Given the description of an element on the screen output the (x, y) to click on. 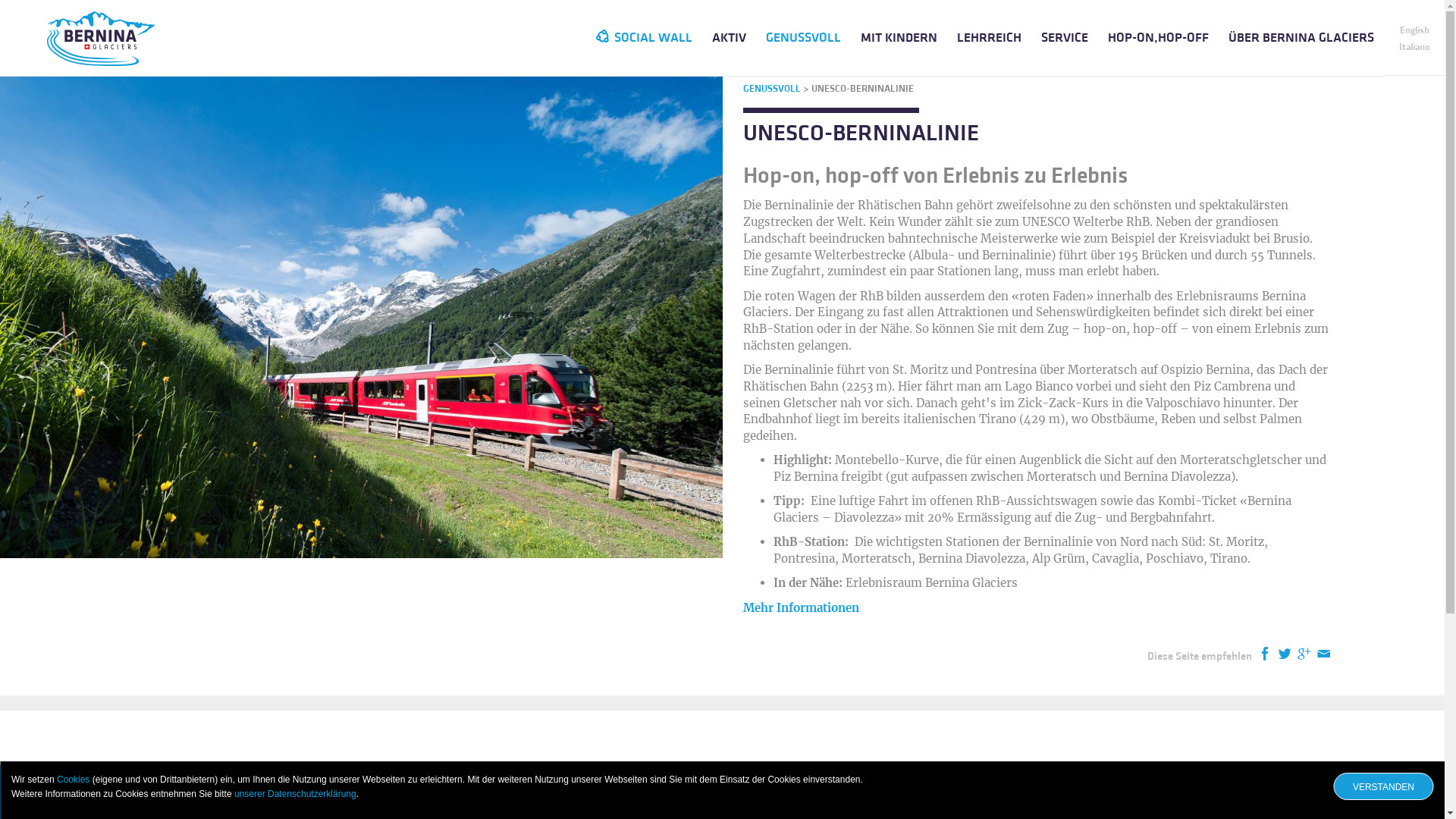
WETTER Element type: text (370, 791)
Italiano Element type: text (1413, 46)
GENUSSVOLL Element type: text (803, 37)
VERSTANDEN Element type: text (1383, 786)
GENUSSVOLL Element type: text (771, 88)
Bernina Glaciers Element type: hover (100, 32)
AKTIV Element type: text (729, 37)
SERVICE Element type: text (1064, 37)
HOP-ON,HOP-OFF Element type: text (1158, 37)
Mehr Informationen Element type: text (801, 607)
LEHRREICH Element type: text (989, 37)
SOCIAL WALL Element type: text (644, 37)
BERGBAHNEN Element type: text (983, 791)
English Element type: text (1414, 30)
STRASSENZUSTAND Element type: text (1290, 791)
MIT KINDERN Element type: text (898, 37)
Cookies Element type: text (72, 779)
LIVECAMS Element type: text (677, 791)
UNESCO-BERNINALINIE Element type: text (862, 88)
